Given the description of an element on the screen output the (x, y) to click on. 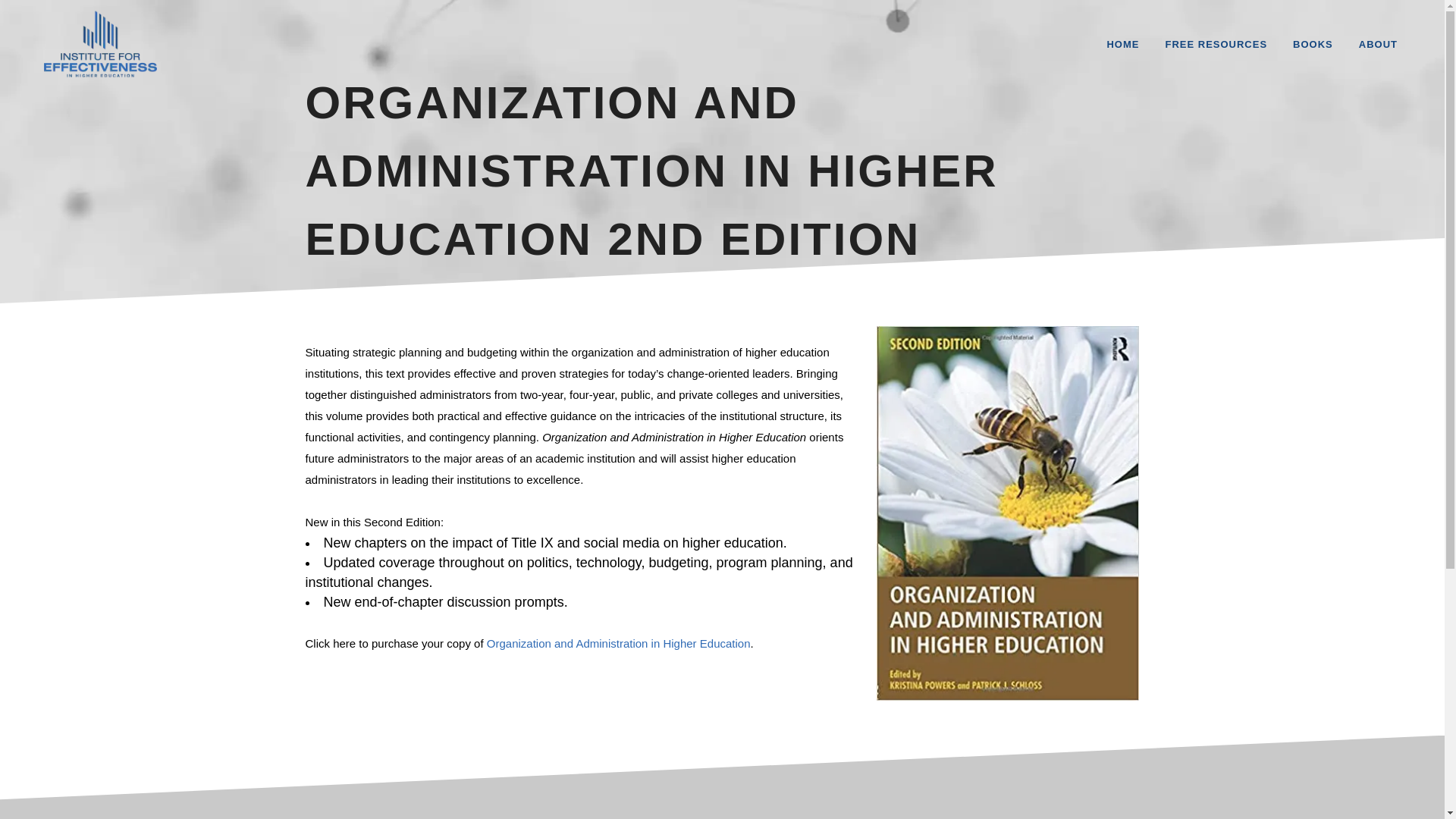
IPEDS Definitive Guide for Senior Leaders: 2023-24 (940, 608)
FREE RESOURCES (1215, 44)
Organization and Administration in Higher Education (618, 643)
